Given the description of an element on the screen output the (x, y) to click on. 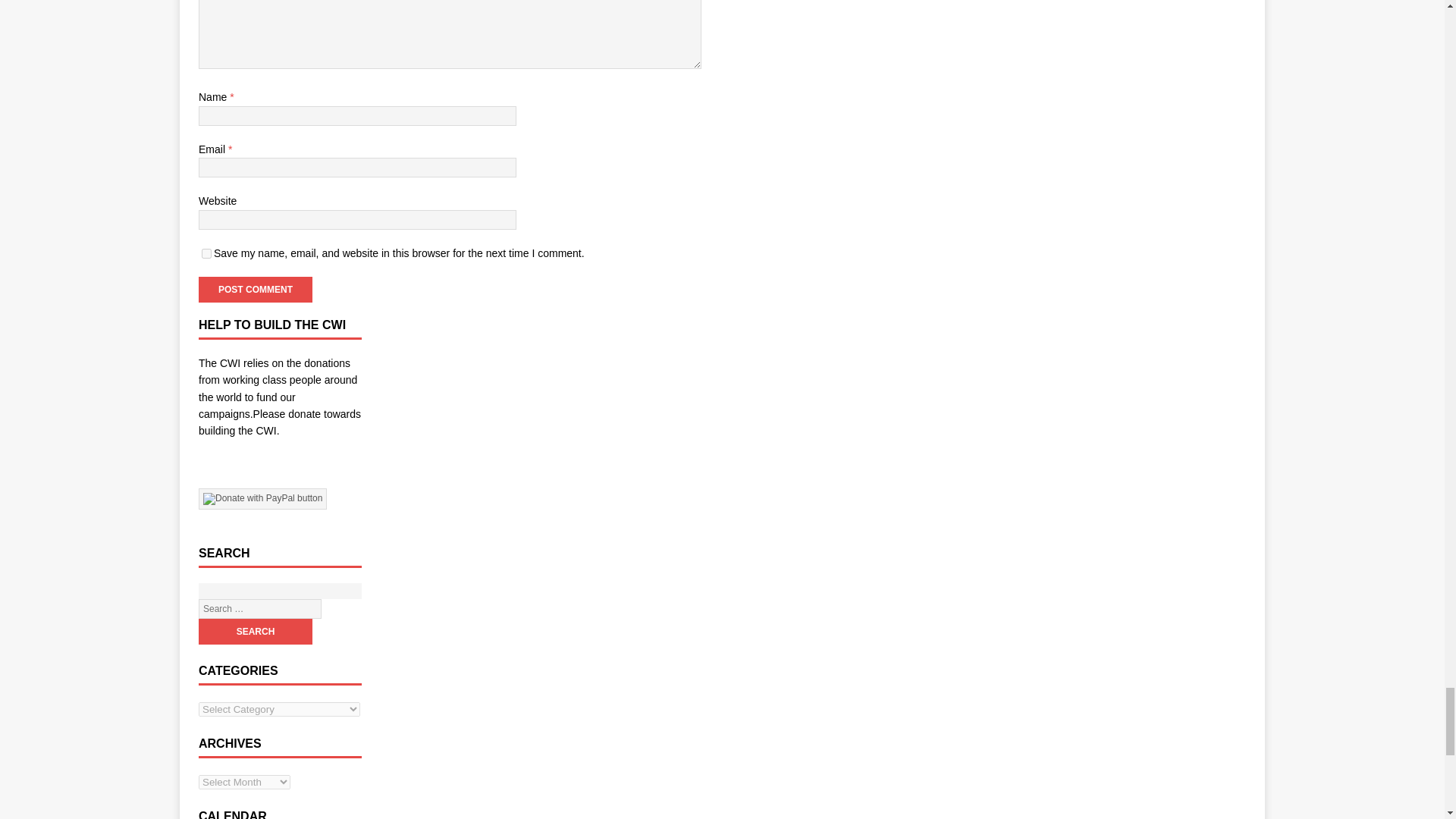
Search (255, 631)
Post Comment (255, 289)
yes (206, 253)
Search (255, 631)
